Given the description of an element on the screen output the (x, y) to click on. 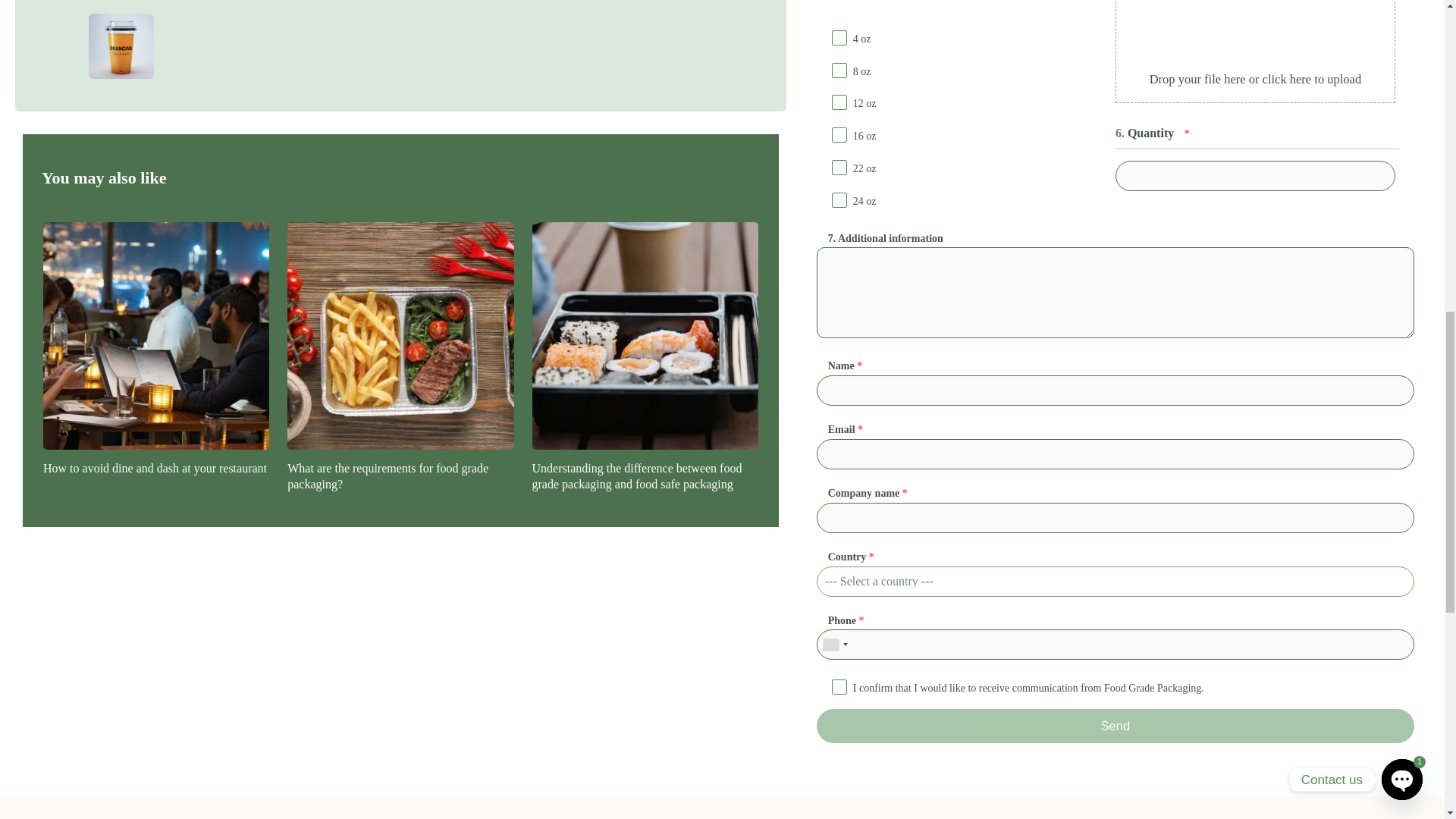
24 oz (839, 201)
4 oz (839, 39)
16 oz (839, 136)
12 oz (839, 104)
Required (859, 365)
Required (872, 556)
22 oz (839, 168)
How to avoid dine and dash at your restaurant (156, 468)
Required (860, 429)
Required (861, 620)
Required (904, 492)
Required (1187, 133)
8 oz (839, 72)
